Given the description of an element on the screen output the (x, y) to click on. 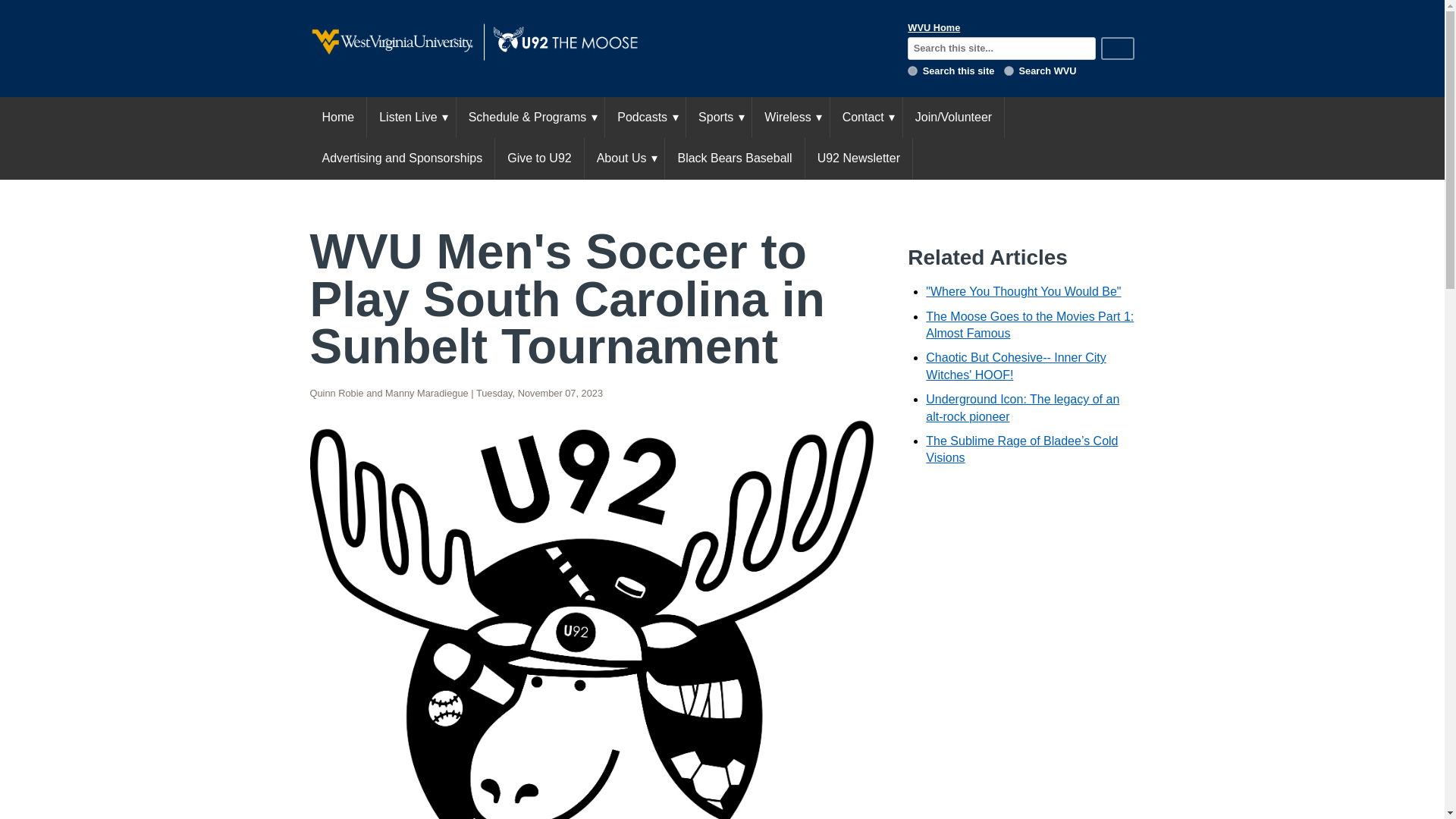
Home (337, 117)
Podcasts (645, 117)
Search (1117, 47)
Search (1117, 47)
u92themoose.com (912, 71)
Search (1117, 47)
wvu.edu (1008, 71)
Listen Live (410, 117)
WVU Home (933, 27)
